Given the description of an element on the screen output the (x, y) to click on. 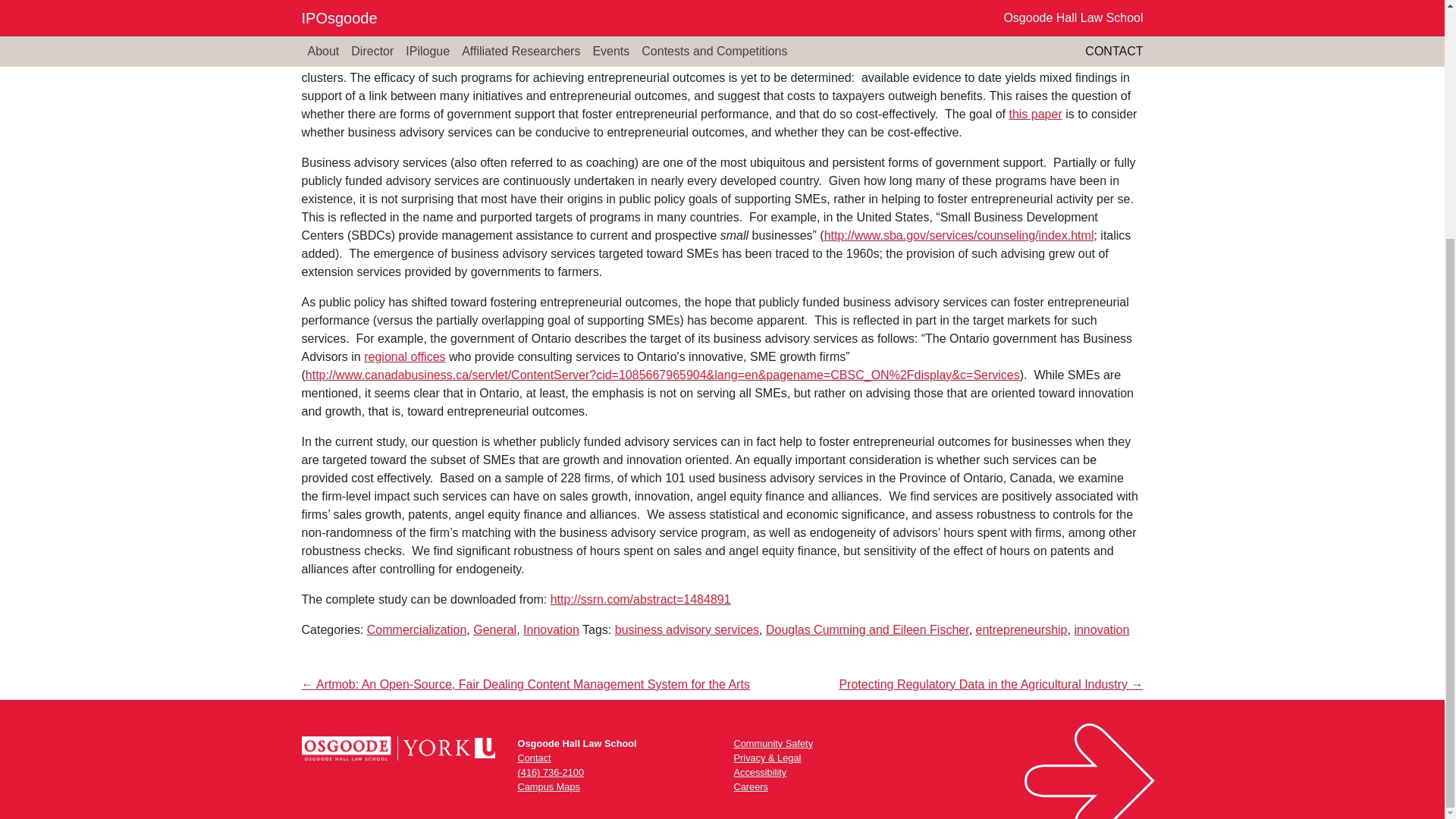
Accessibility (760, 772)
Careers (750, 786)
Commercialization (416, 629)
Campus Maps (547, 786)
this paper (1035, 113)
Community Safety (773, 743)
innovation (1101, 629)
regional offices (404, 356)
Innovation (550, 629)
entrepreneurship (1021, 629)
business advisory services (686, 629)
Contact (533, 757)
Douglas Cumming and Eileen Fischer (867, 629)
General (494, 629)
